Given the description of an element on the screen output the (x, y) to click on. 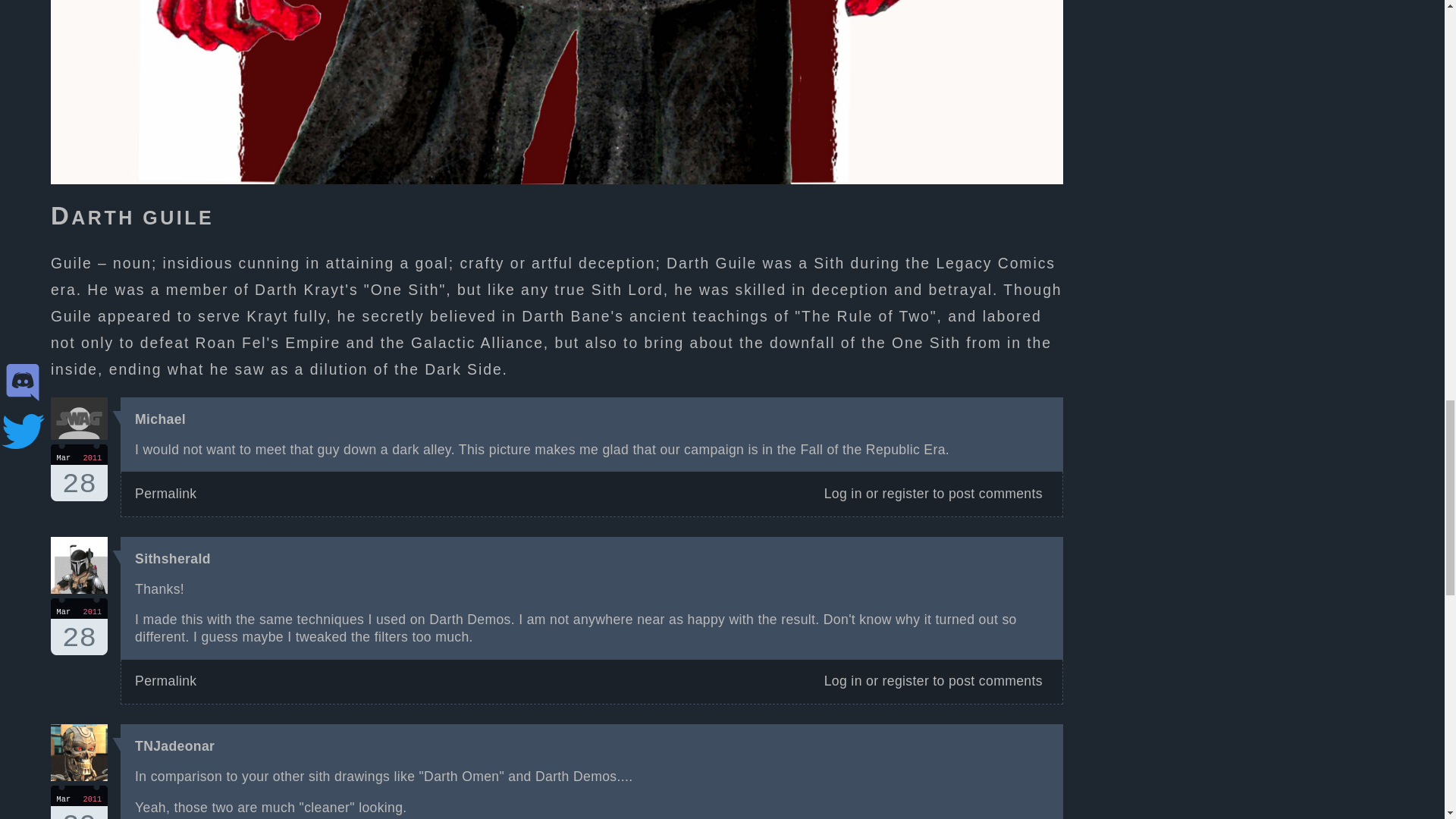
register (905, 680)
Permalink (165, 680)
TNJadeonar (174, 745)
View user profile. (173, 557)
View user profile. (160, 418)
register (905, 493)
Sithsherald (173, 557)
Michael (78, 626)
Log in (160, 418)
Log in (842, 493)
Permalink (842, 680)
View user profile. (165, 493)
